Given the description of an element on the screen output the (x, y) to click on. 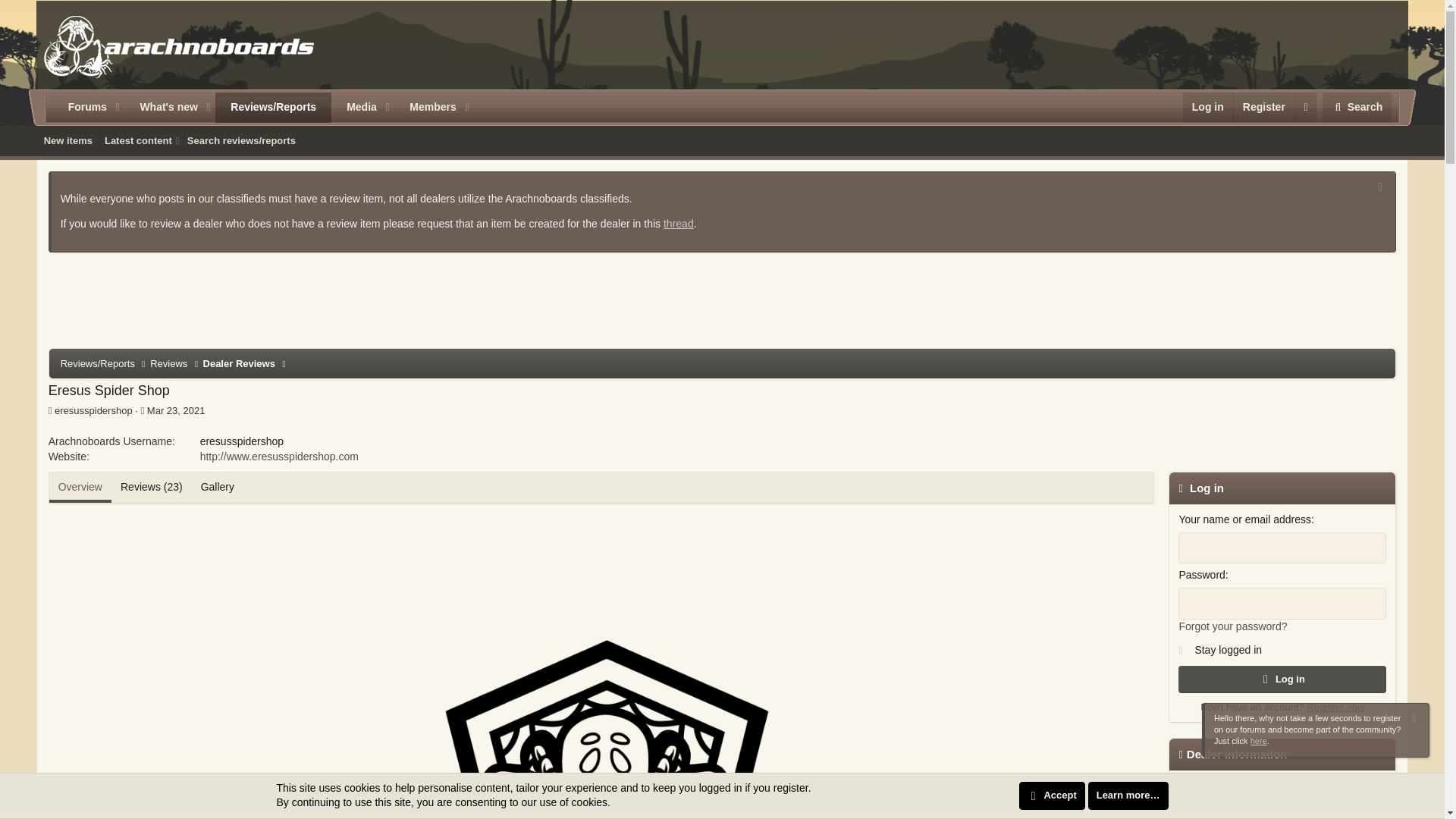
Media (355, 107)
Forums (81, 107)
Latest content (136, 140)
Members (427, 107)
Register (1263, 107)
What's new (161, 107)
Search (1356, 107)
1 (1182, 646)
Search (1356, 107)
Log in (1207, 107)
